Given the description of an element on the screen output the (x, y) to click on. 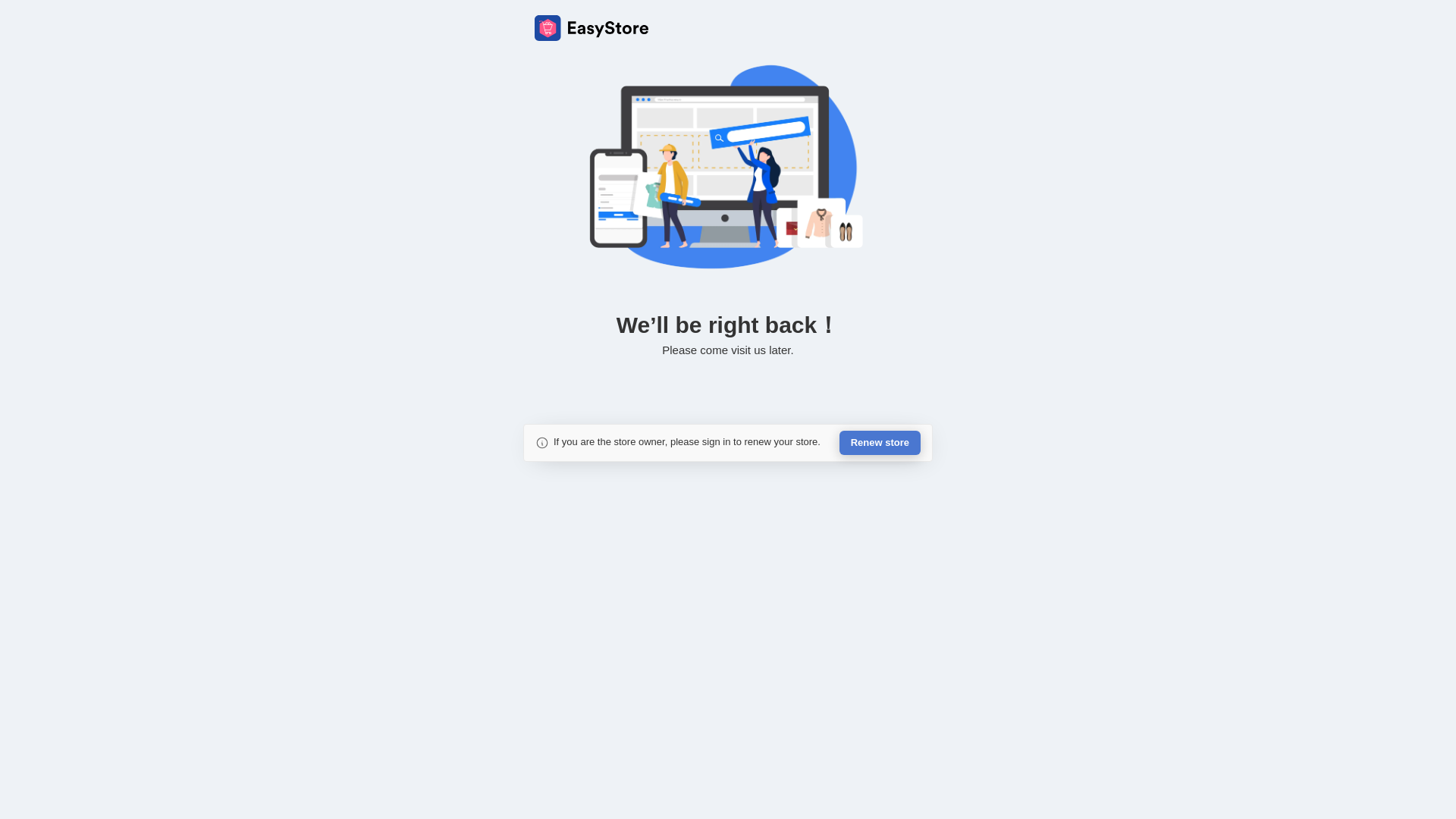
Renew store (880, 442)
